Given the description of an element on the screen output the (x, y) to click on. 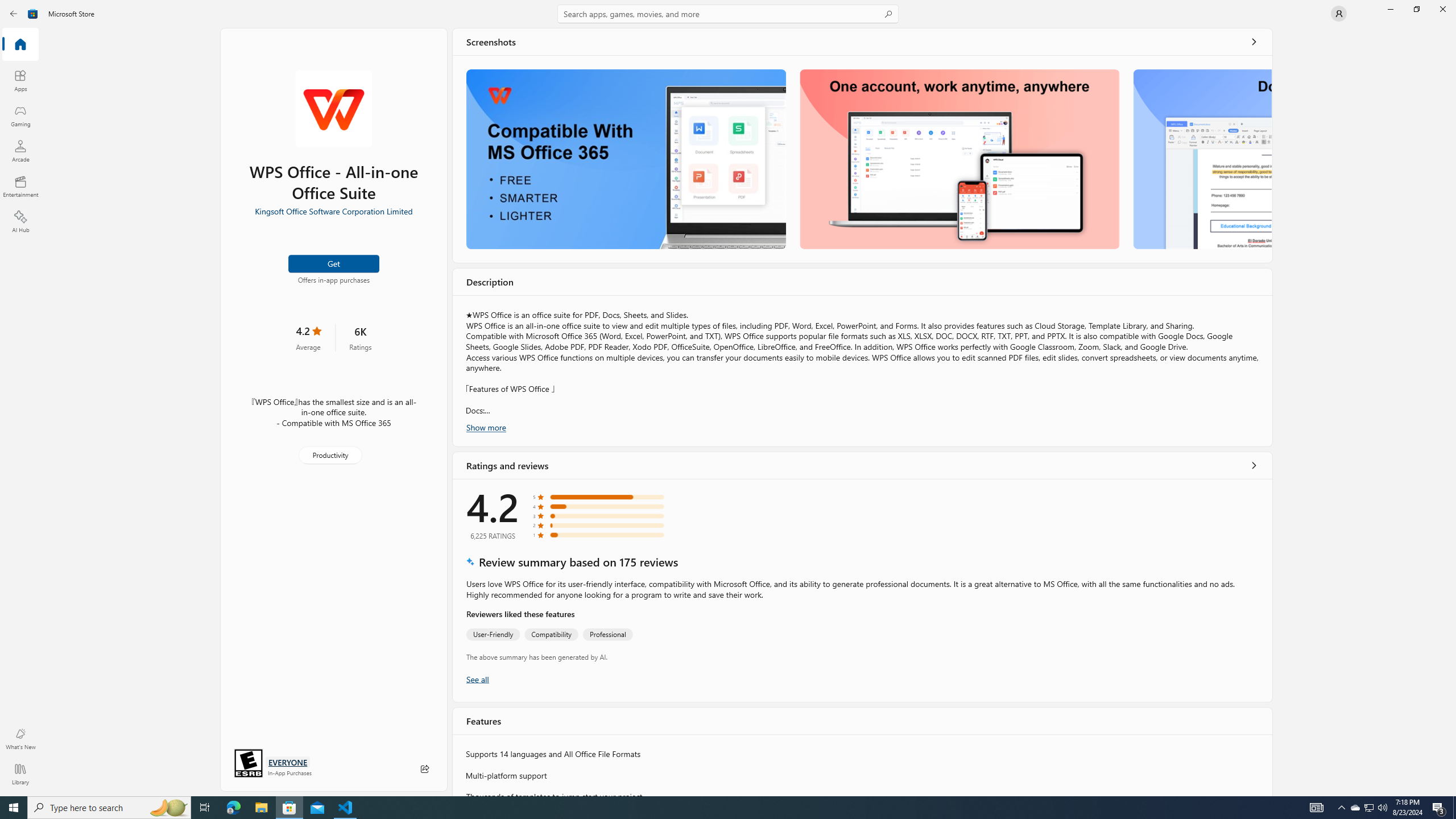
Kingsoft Office Software Corporation Limited (333, 210)
Back (13, 13)
Arcade (20, 150)
Screenshot 2 (959, 158)
User profile (1338, 13)
Entertainment (20, 185)
Productivity (329, 454)
Search (727, 13)
AutomationID: NavigationControl (728, 398)
Gaming (20, 115)
Show more (485, 426)
Share (424, 769)
Class: Image (32, 13)
4.2 stars. Click to skip to ratings and reviews (307, 337)
